Given the description of an element on the screen output the (x, y) to click on. 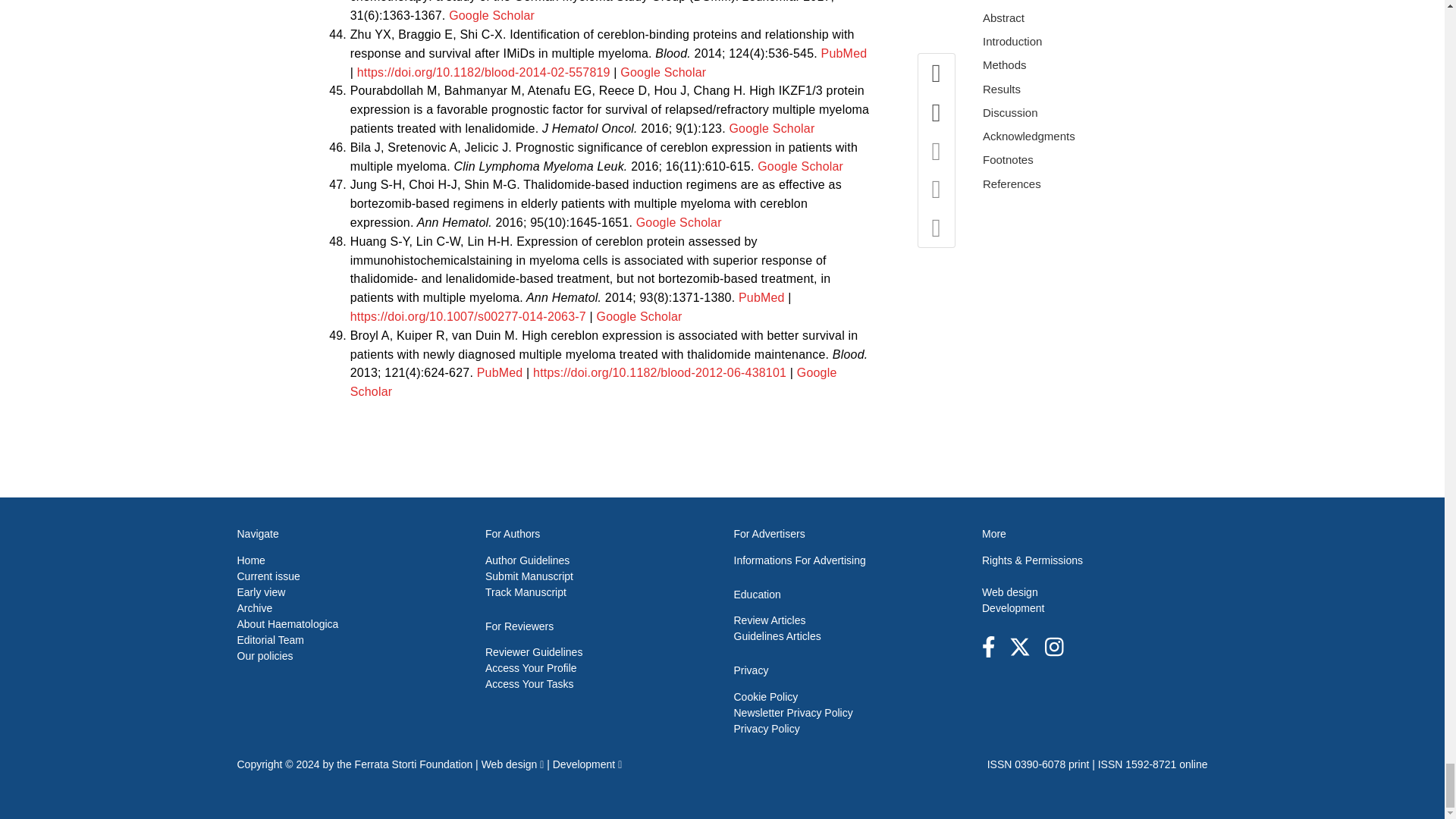
Current Issue (267, 576)
Home (249, 560)
Early View (260, 592)
